Given the description of an element on the screen output the (x, y) to click on. 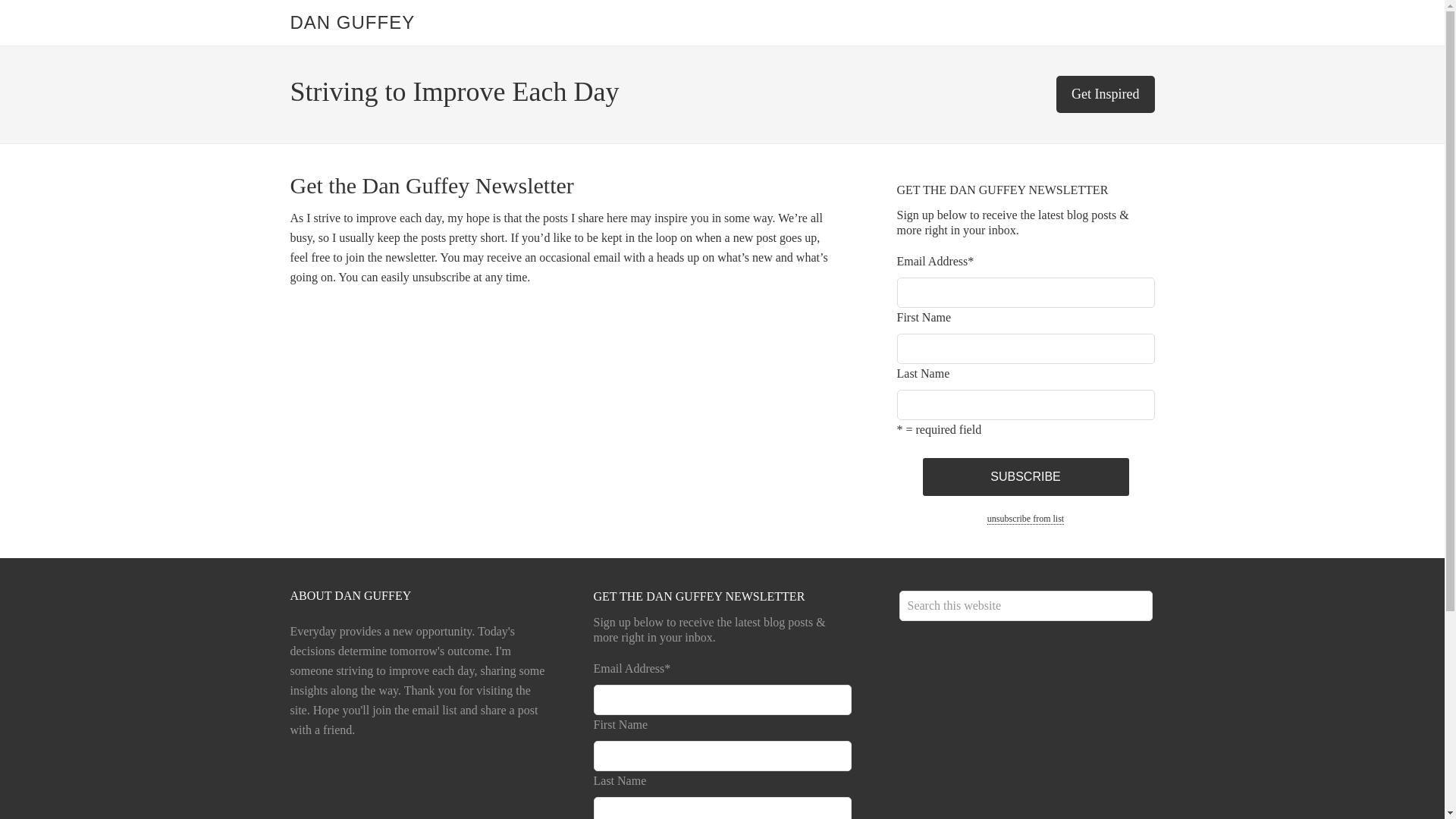
Subscribe (1024, 476)
Get Inspired (1105, 94)
Get Inspired (1105, 94)
DAN GUFFEY (351, 22)
Subscribe (1024, 476)
unsubscribe from list (1025, 518)
